Given the description of an element on the screen output the (x, y) to click on. 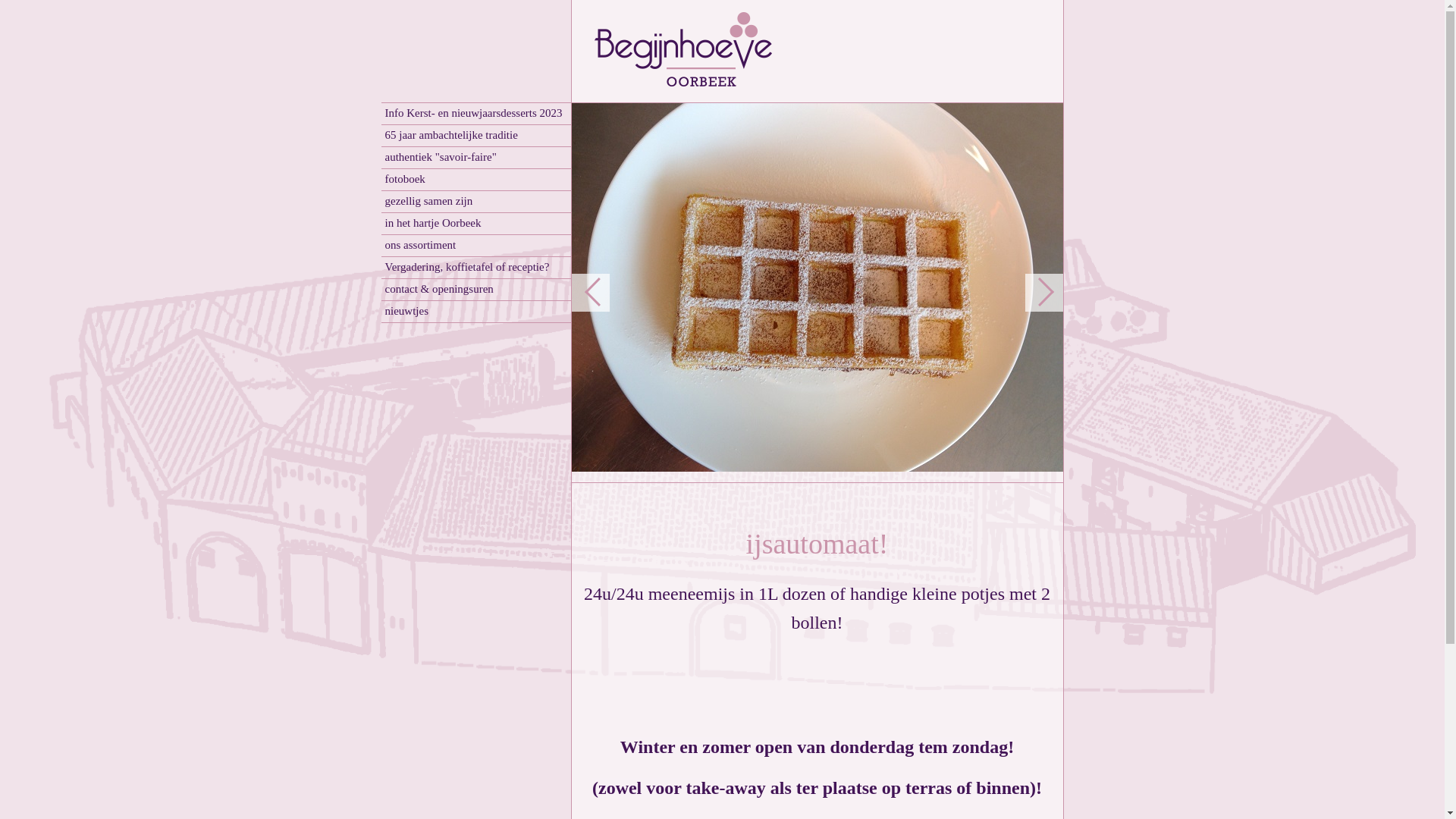
authentiek "savoir-faire" Element type: text (475, 158)
ons assortiment Element type: text (475, 246)
Vergadering, koffietafel of receptie? Element type: text (475, 268)
in het hartje Oorbeek Element type: text (475, 224)
gezellig samen zijn Element type: text (475, 202)
contact & openingsuren Element type: text (475, 290)
nieuwtjes Element type: text (475, 312)
Overslaan en naar de inhoud gaan Element type: text (88, 6)
Info Kerst- en nieuwjaarsdesserts 2023 Element type: text (475, 114)
fotoboek Element type: text (475, 180)
65 jaar ambachtelijke traditie Element type: text (475, 136)
